Given the description of an element on the screen output the (x, y) to click on. 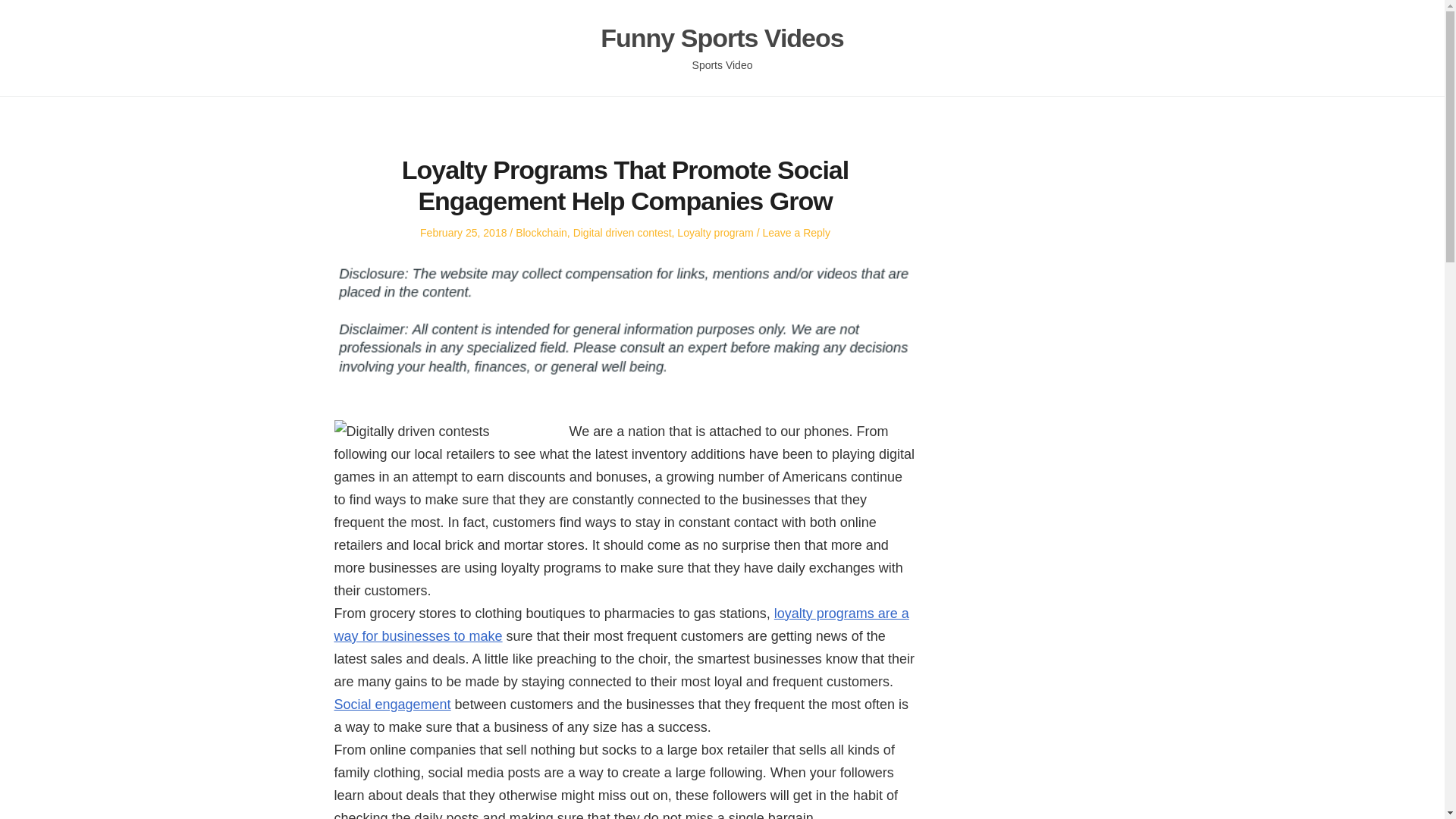
Token (391, 703)
Social engagement (391, 703)
Loyalty program (714, 232)
Funny Sports Videos (721, 38)
February 25, 2018 (463, 232)
Blockchain (541, 232)
Leave a Reply (795, 232)
See more on Artificial intelligence (620, 624)
Digital driven contest (622, 232)
loyalty programs are a way for businesses to make (620, 624)
